Given the description of an element on the screen output the (x, y) to click on. 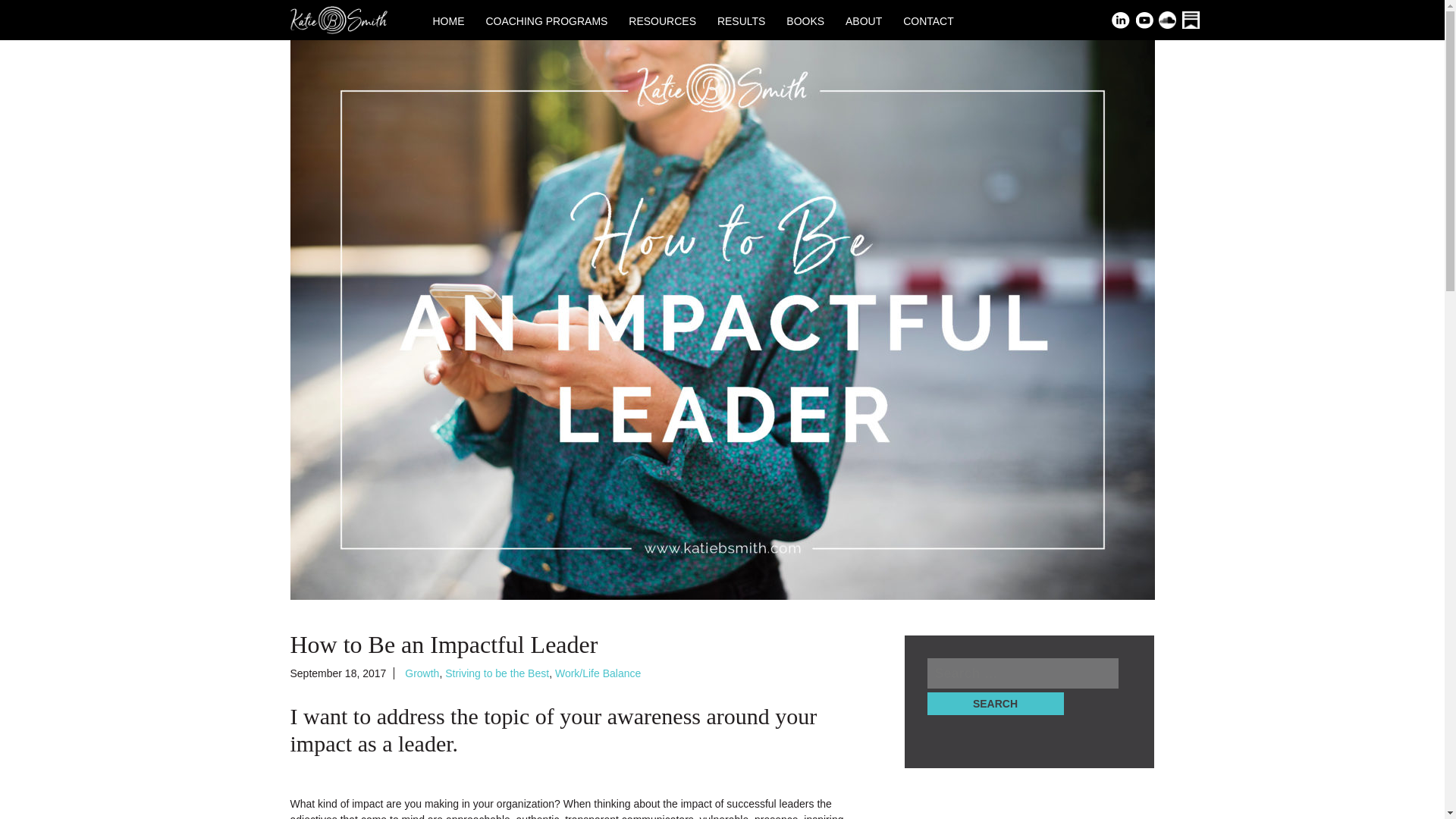
Growth (421, 673)
BOOKS (805, 24)
Katie B Smith (338, 19)
Search (994, 703)
YouTube (1144, 21)
ABOUT (863, 24)
CONTACT (927, 24)
LinkedIn (1121, 21)
Search (994, 703)
Striving to be the Best (496, 673)
COACHING PROGRAMS (545, 24)
RESOURCES (661, 24)
HOME (448, 24)
RESULTS (741, 24)
